Given the description of an element on the screen output the (x, y) to click on. 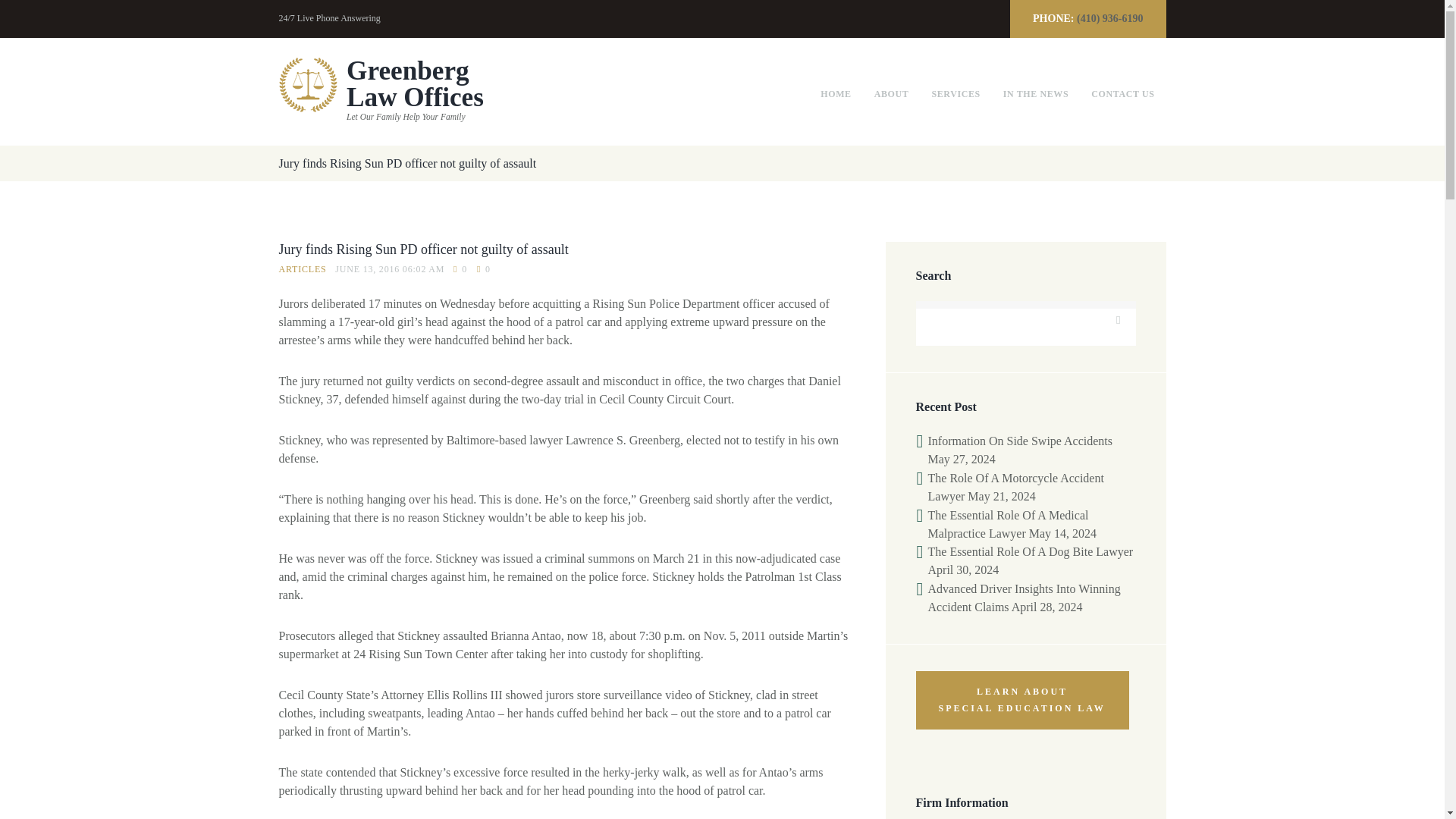
SERVICES (955, 93)
ABOUT (381, 91)
HOME (891, 93)
Like (835, 93)
Comments - 0 (483, 269)
